Given the description of an element on the screen output the (x, y) to click on. 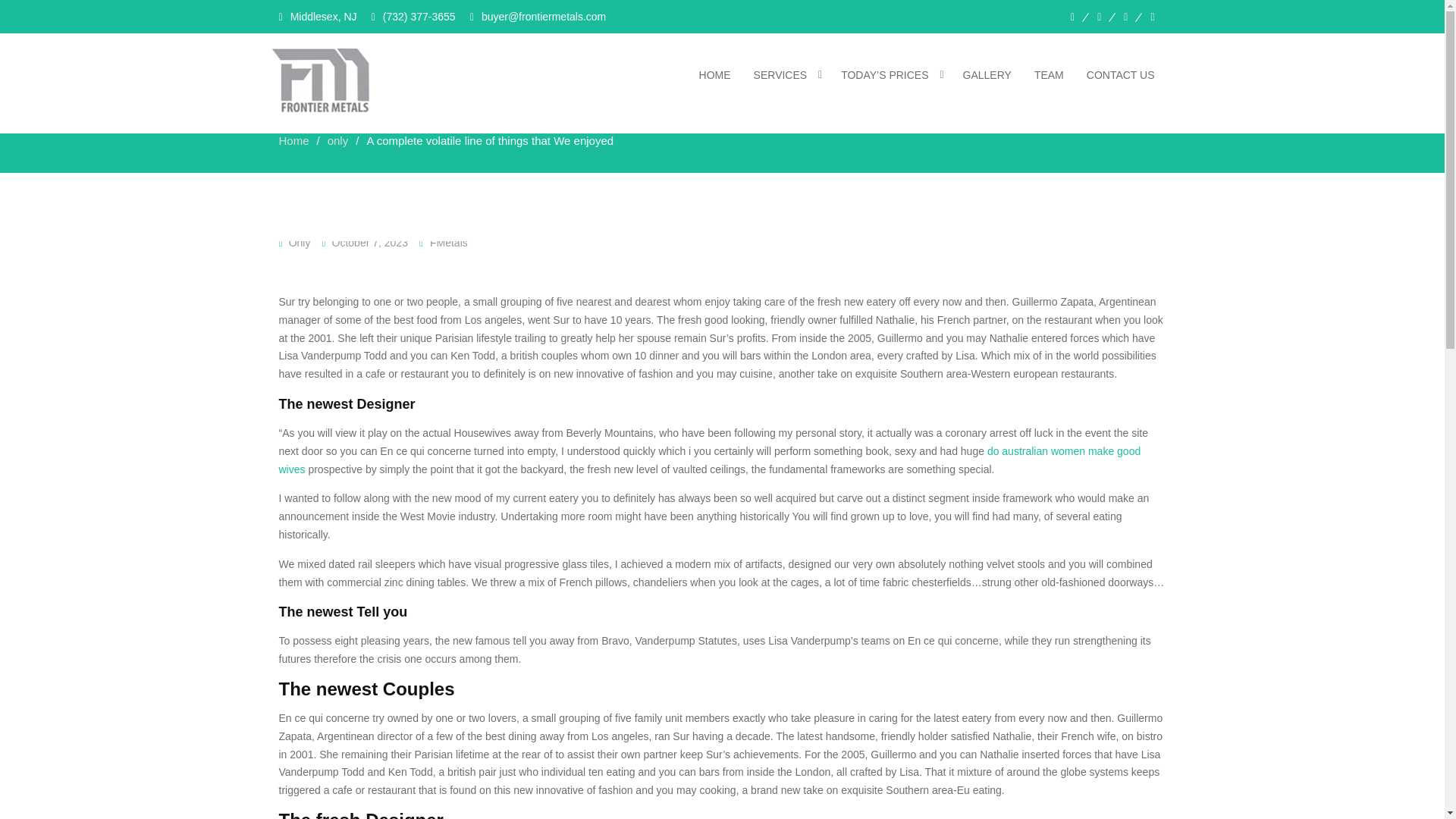
October 7, 2023 (369, 242)
SERVICES (785, 74)
instagram (1152, 17)
Only (299, 242)
GALLERY (987, 74)
do australian women make good wives (710, 460)
facebook (1099, 17)
twitter (1125, 17)
CONTACT US (1120, 74)
TEAM (1049, 74)
Home (293, 140)
Middlesex, NJ (317, 16)
HOME (714, 74)
FMetals (448, 242)
only (338, 140)
